Given the description of an element on the screen output the (x, y) to click on. 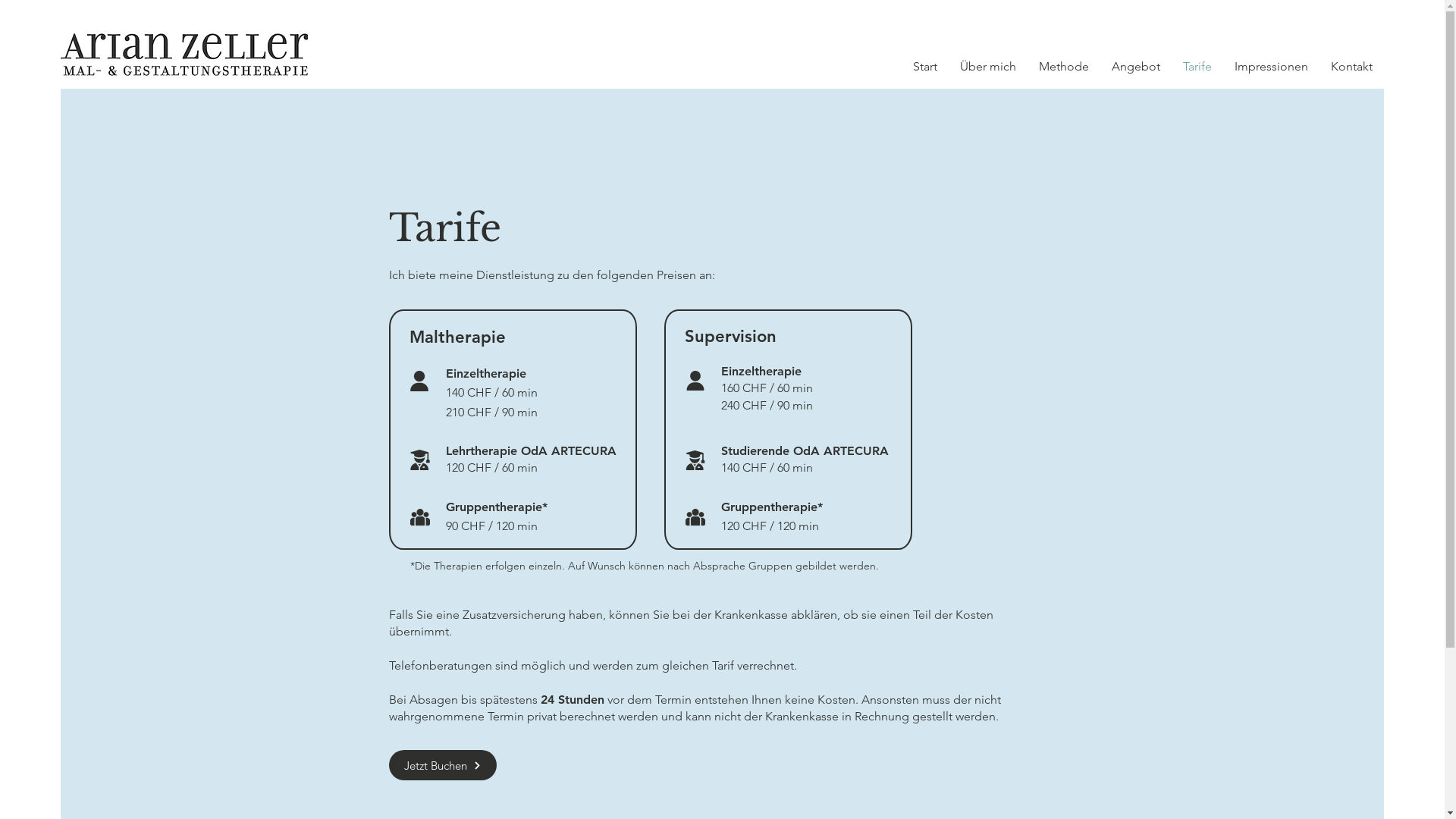
Impressionen Element type: text (1271, 66)
Tarife Element type: text (1197, 66)
Methode Element type: text (1063, 66)
Start Element type: text (924, 66)
Jetzt Buchen Element type: text (441, 764)
Angebot Element type: text (1135, 66)
Kontakt Element type: text (1351, 66)
